Given the description of an element on the screen output the (x, y) to click on. 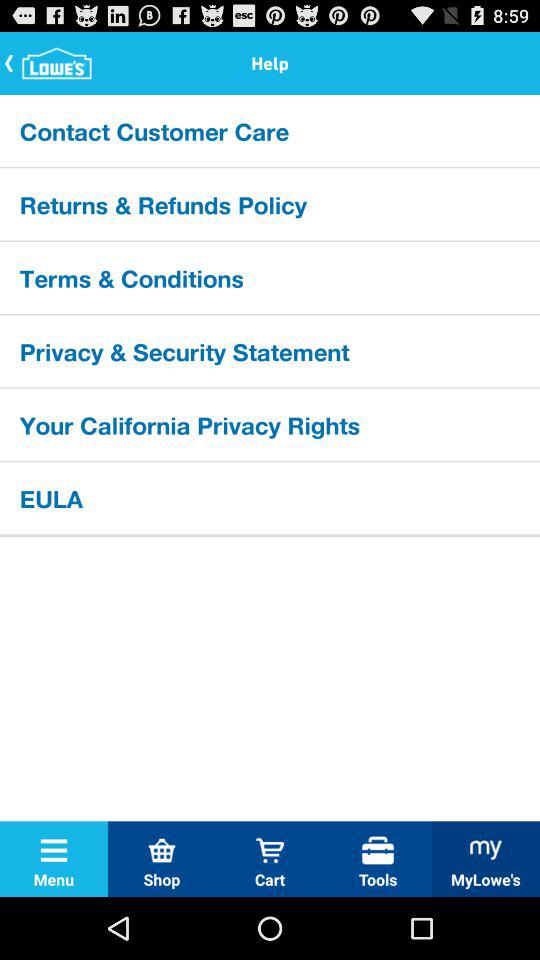
click on the last icon in the bottom right corner (485, 850)
select the icon at the bottom above cart (269, 850)
click on the logo shown at the left top corner left to help (49, 62)
click the tool icon (377, 850)
